Given the description of an element on the screen output the (x, y) to click on. 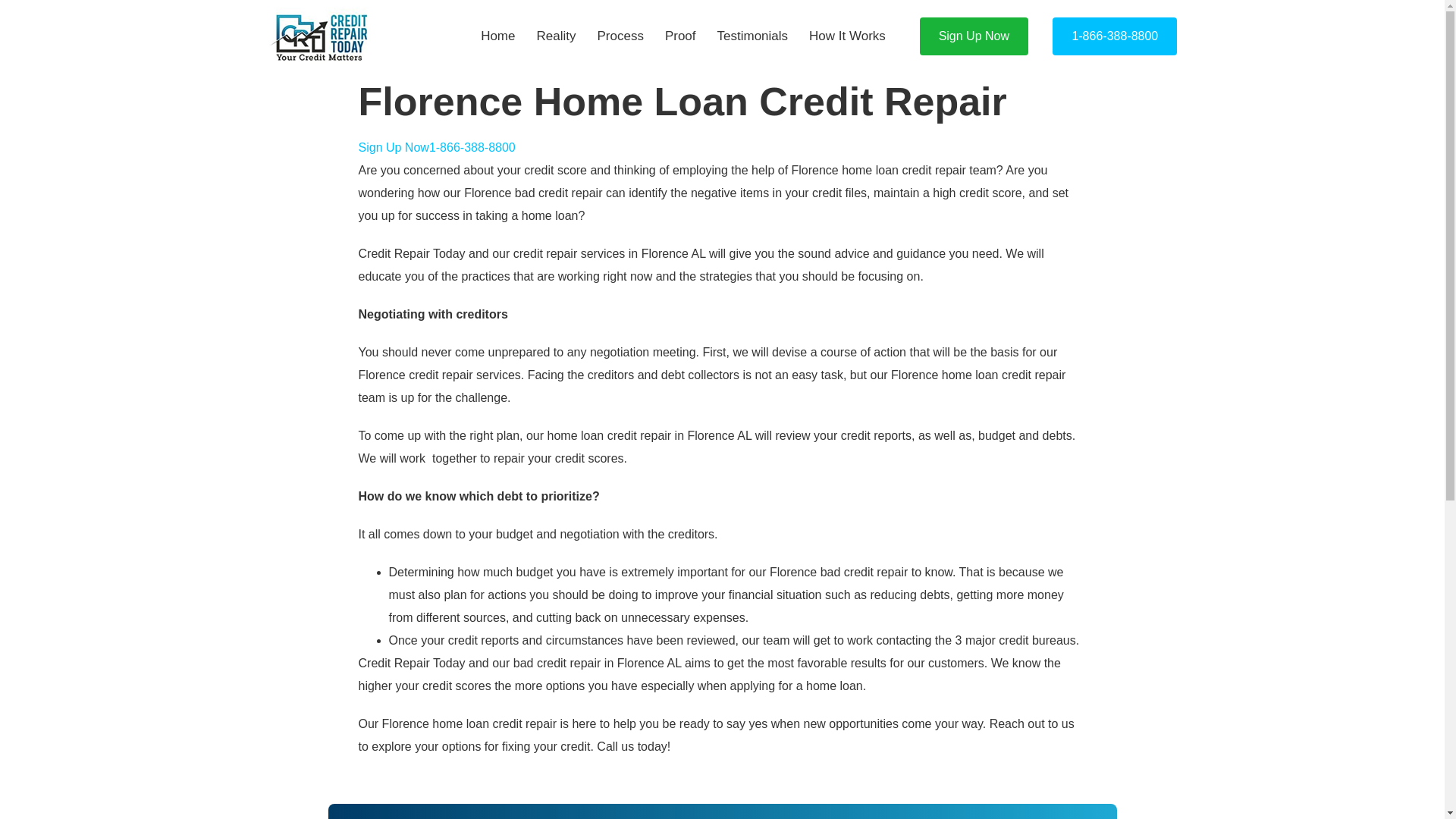
Process (619, 36)
Home (497, 36)
Sign Up Now (393, 146)
Reality (555, 36)
Sign Up Now (973, 36)
Testimonials (752, 36)
Proof (679, 36)
1-866-388-8800 (472, 146)
How It Works (846, 36)
1-866-388-8800 (1114, 36)
